Given the description of an element on the screen output the (x, y) to click on. 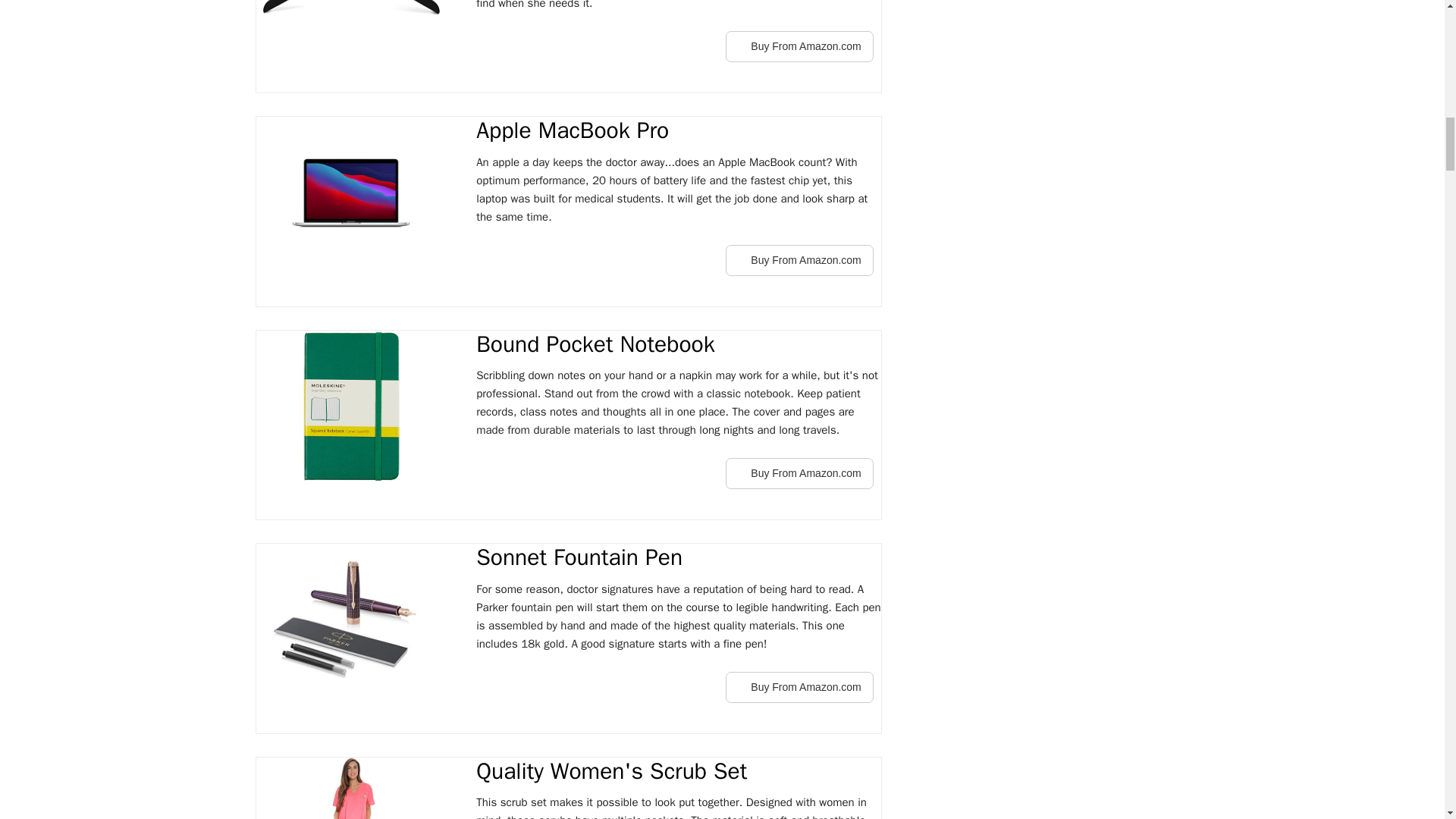
Bound Pocket Notebook (678, 344)
Buy From Amazon.com (799, 46)
Sonnet Fountain Pen (678, 557)
Buy From Amazon.com (799, 46)
Buy From Amazon.com (799, 472)
Quality Women's Scrub Set (678, 771)
Buy From Amazon.com (799, 260)
Apple MacBook Pro (678, 131)
First White Coat Hanger (350, 15)
Buy From Amazon.com (799, 686)
